Given the description of an element on the screen output the (x, y) to click on. 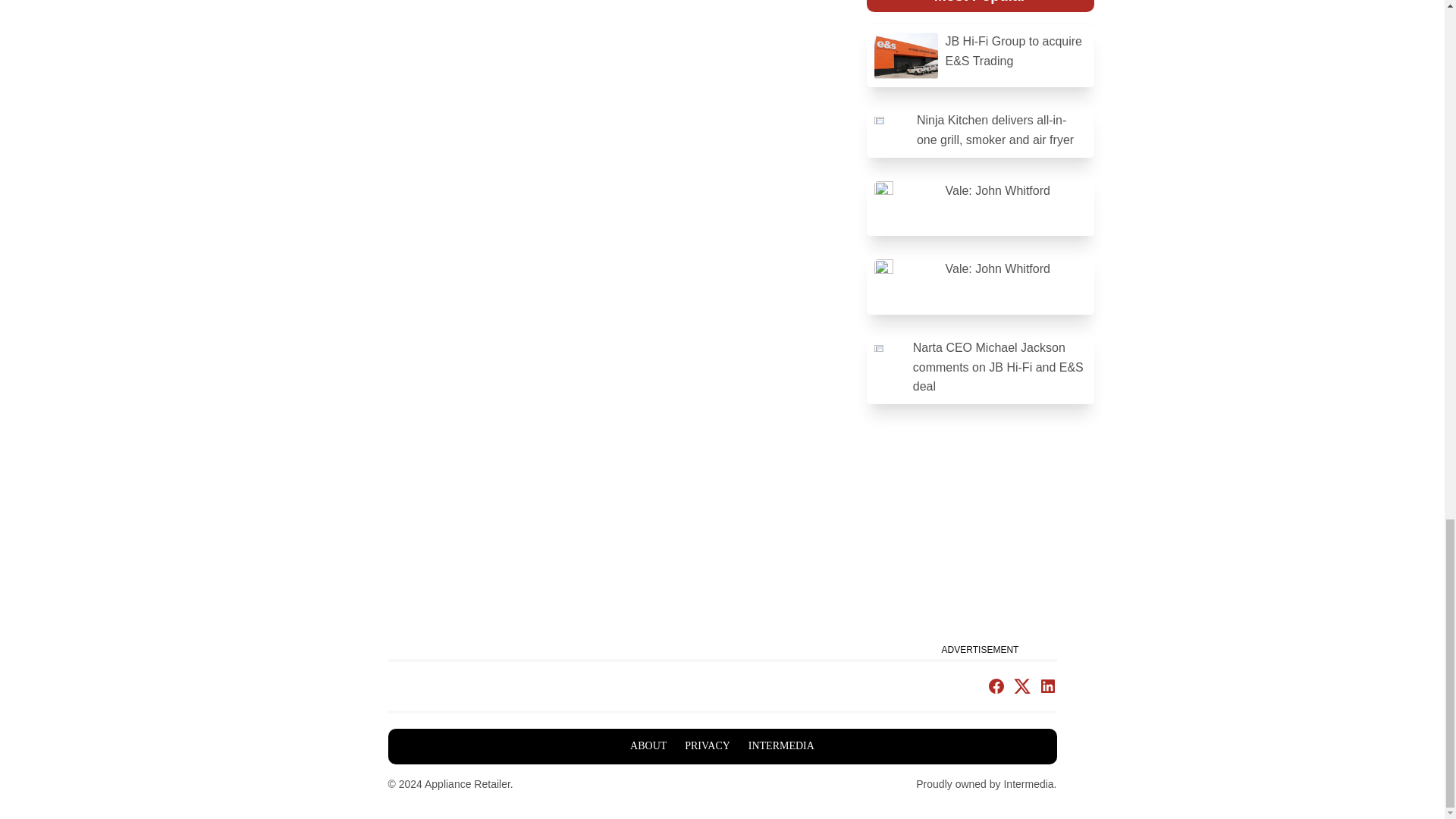
Vale: John Whitford (979, 204)
Vale: John Whitford (979, 283)
3rd party ad content (979, 544)
